Given the description of an element on the screen output the (x, y) to click on. 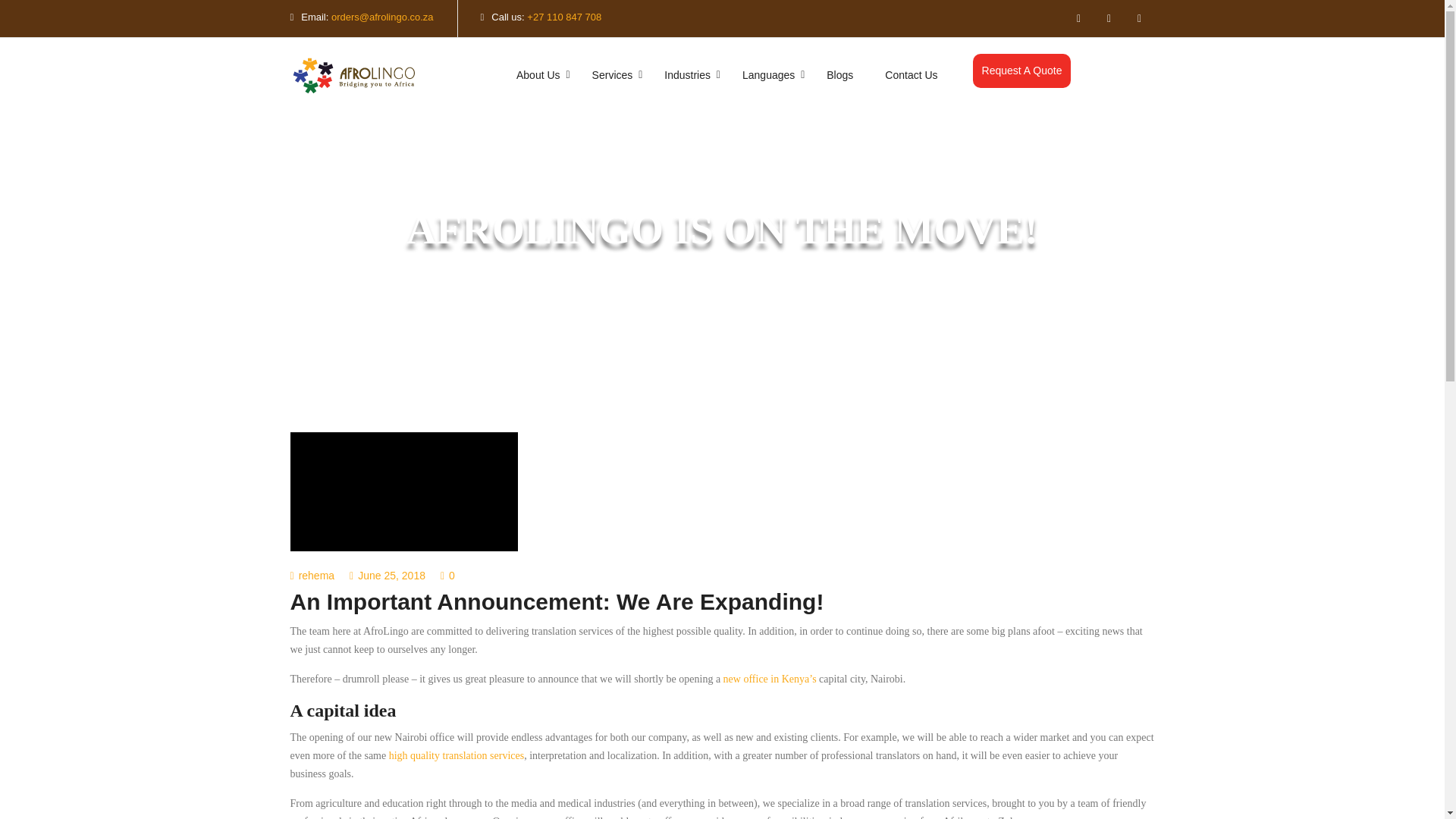
Linkedin (1108, 18)
Facebook (1139, 18)
About Us (538, 75)
Languages (768, 75)
Twitter (1077, 18)
Industries (686, 75)
Services (612, 75)
